Given the description of an element on the screen output the (x, y) to click on. 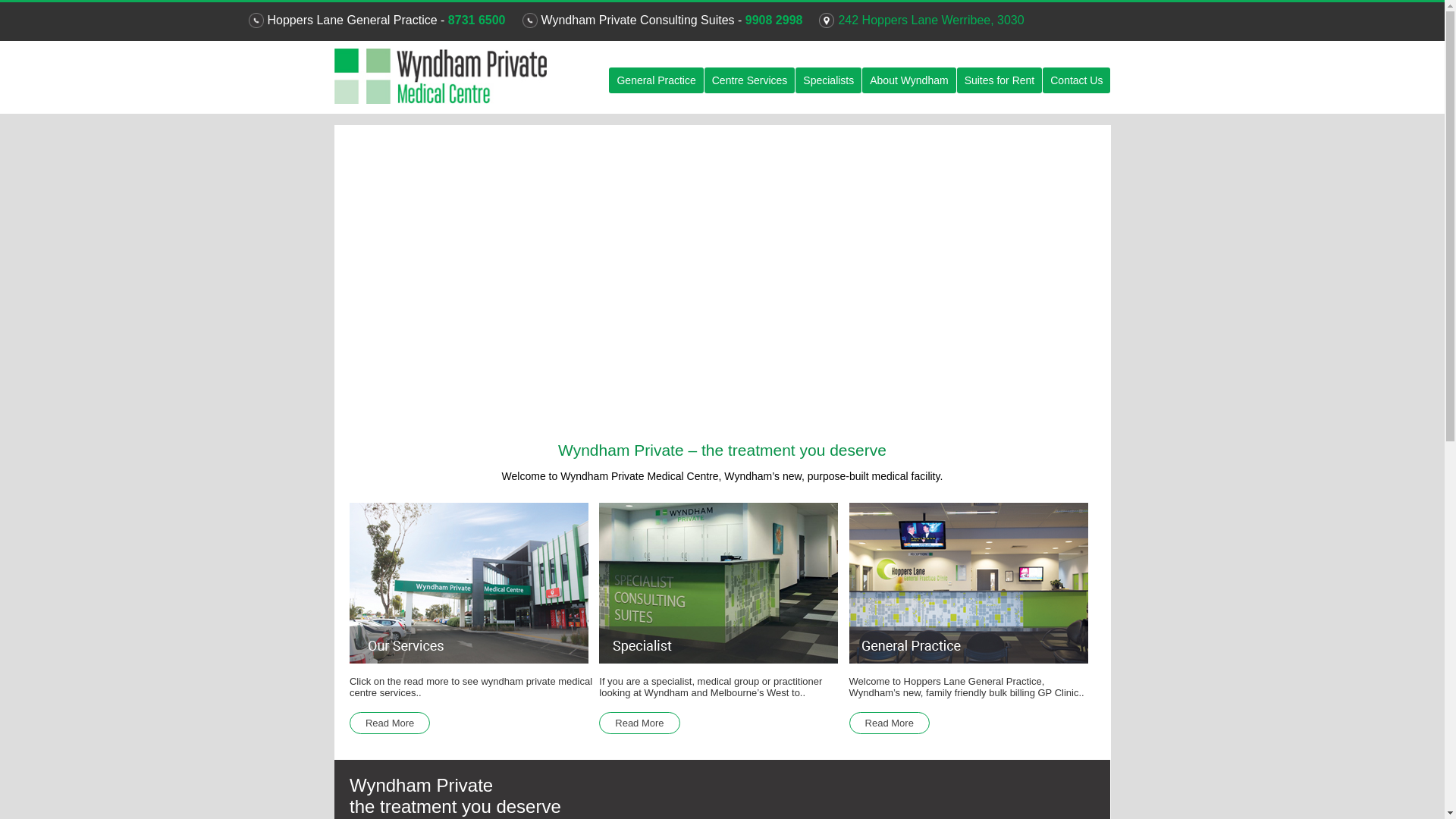
About Wyndham (908, 80)
Centre Services (749, 80)
242 Hoppers Lane Werribee, 3030 (930, 19)
Read More (638, 722)
Contact Us (1075, 80)
9908 2998 (774, 19)
Read More (889, 722)
8731 6500 (476, 19)
General Practice (655, 80)
Read More (389, 722)
